Given the description of an element on the screen output the (x, y) to click on. 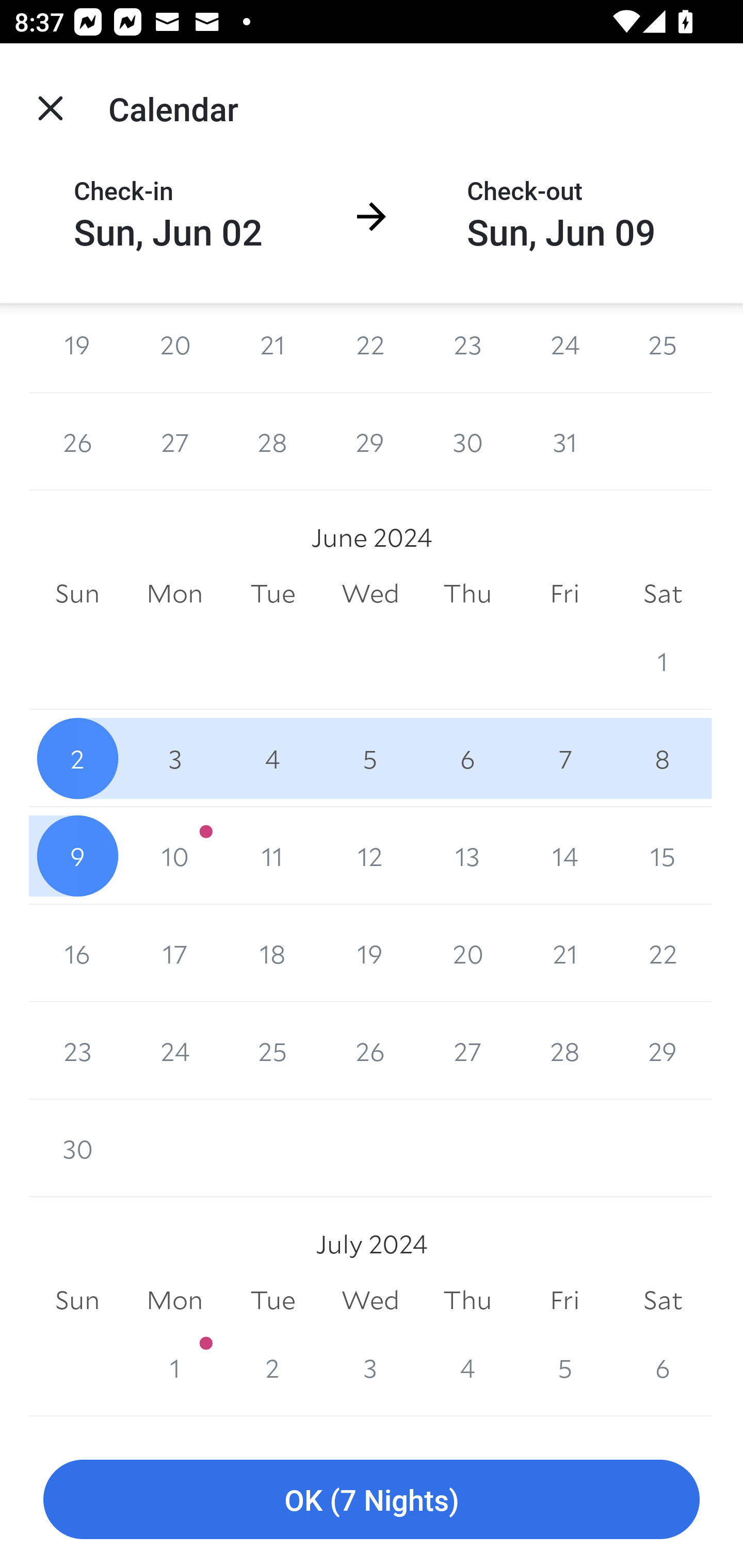
19 19 May 2024 (77, 347)
20 20 May 2024 (174, 347)
21 21 May 2024 (272, 347)
22 22 May 2024 (370, 347)
23 23 May 2024 (467, 347)
24 24 May 2024 (564, 347)
25 25 May 2024 (662, 347)
26 26 May 2024 (77, 441)
27 27 May 2024 (174, 441)
28 28 May 2024 (272, 441)
29 29 May 2024 (370, 441)
30 30 May 2024 (467, 441)
31 31 May 2024 (564, 441)
Sun (77, 593)
Mon (174, 593)
Tue (272, 593)
Wed (370, 593)
Thu (467, 593)
Fri (564, 593)
Sat (662, 593)
1 1 June 2024 (662, 660)
2 2 June 2024 (77, 758)
3 3 June 2024 (174, 758)
4 4 June 2024 (272, 758)
5 5 June 2024 (370, 758)
6 6 June 2024 (467, 758)
7 7 June 2024 (564, 758)
8 8 June 2024 (662, 758)
9 9 June 2024 (77, 855)
10 10 June 2024 (174, 855)
11 11 June 2024 (272, 855)
12 12 June 2024 (370, 855)
13 13 June 2024 (467, 855)
14 14 June 2024 (564, 855)
15 15 June 2024 (662, 855)
16 16 June 2024 (77, 952)
17 17 June 2024 (174, 952)
18 18 June 2024 (272, 952)
19 19 June 2024 (370, 952)
20 20 June 2024 (467, 952)
21 21 June 2024 (564, 952)
22 22 June 2024 (662, 952)
23 23 June 2024 (77, 1050)
24 24 June 2024 (174, 1050)
25 25 June 2024 (272, 1050)
26 26 June 2024 (370, 1050)
27 27 June 2024 (467, 1050)
28 28 June 2024 (564, 1050)
29 29 June 2024 (662, 1050)
30 30 June 2024 (77, 1147)
Sun (77, 1299)
Mon (174, 1299)
Tue (272, 1299)
Wed (370, 1299)
Thu (467, 1299)
Fri (564, 1299)
Sat (662, 1299)
1 1 July 2024 (174, 1366)
2 2 July 2024 (272, 1366)
3 3 July 2024 (370, 1366)
4 4 July 2024 (467, 1366)
5 5 July 2024 (564, 1366)
6 6 July 2024 (662, 1366)
OK (7 Nights) (371, 1499)
